Given the description of an element on the screen output the (x, y) to click on. 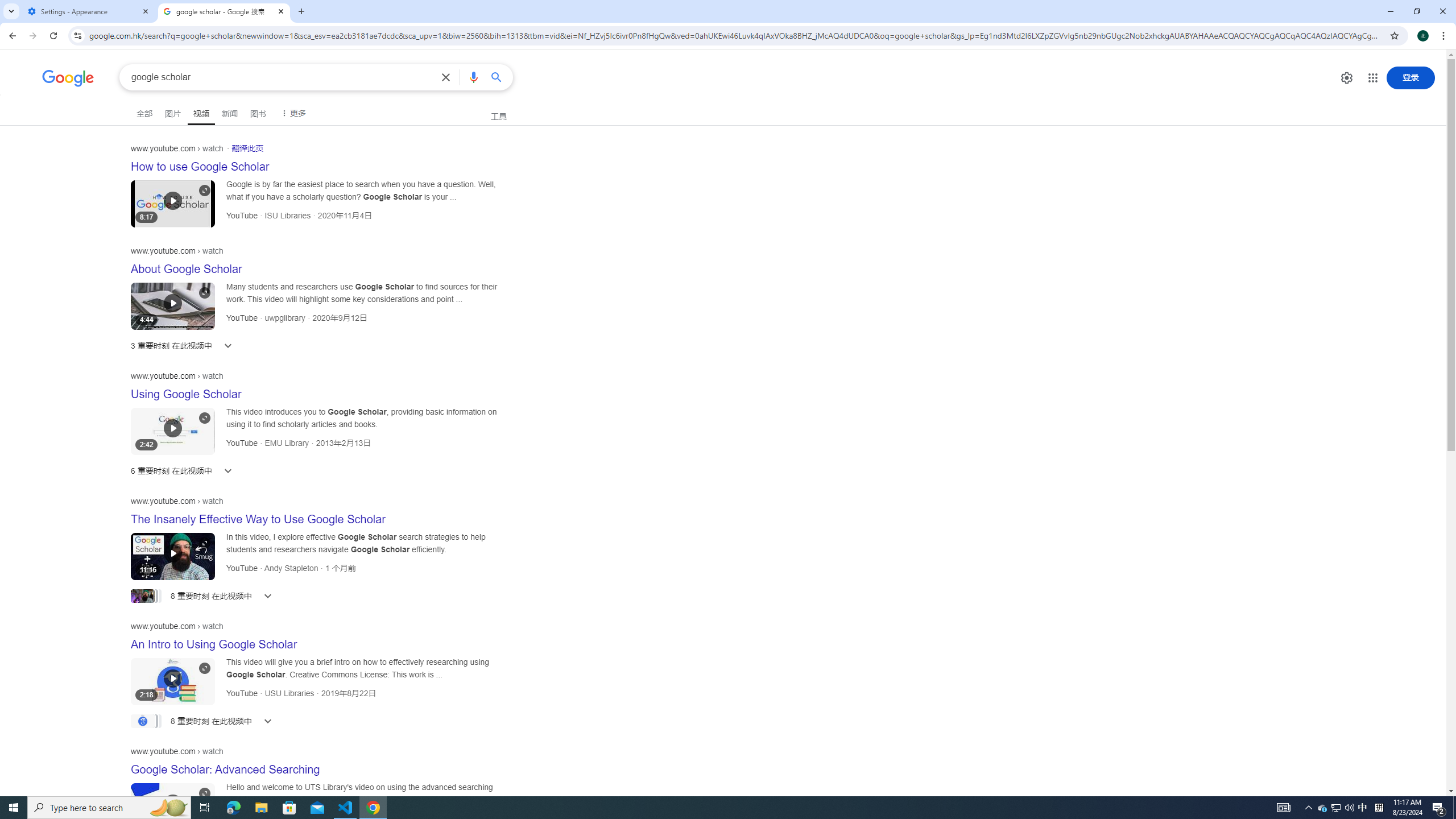
More Filters (291, 112)
Google (68, 78)
